Given the description of an element on the screen output the (x, y) to click on. 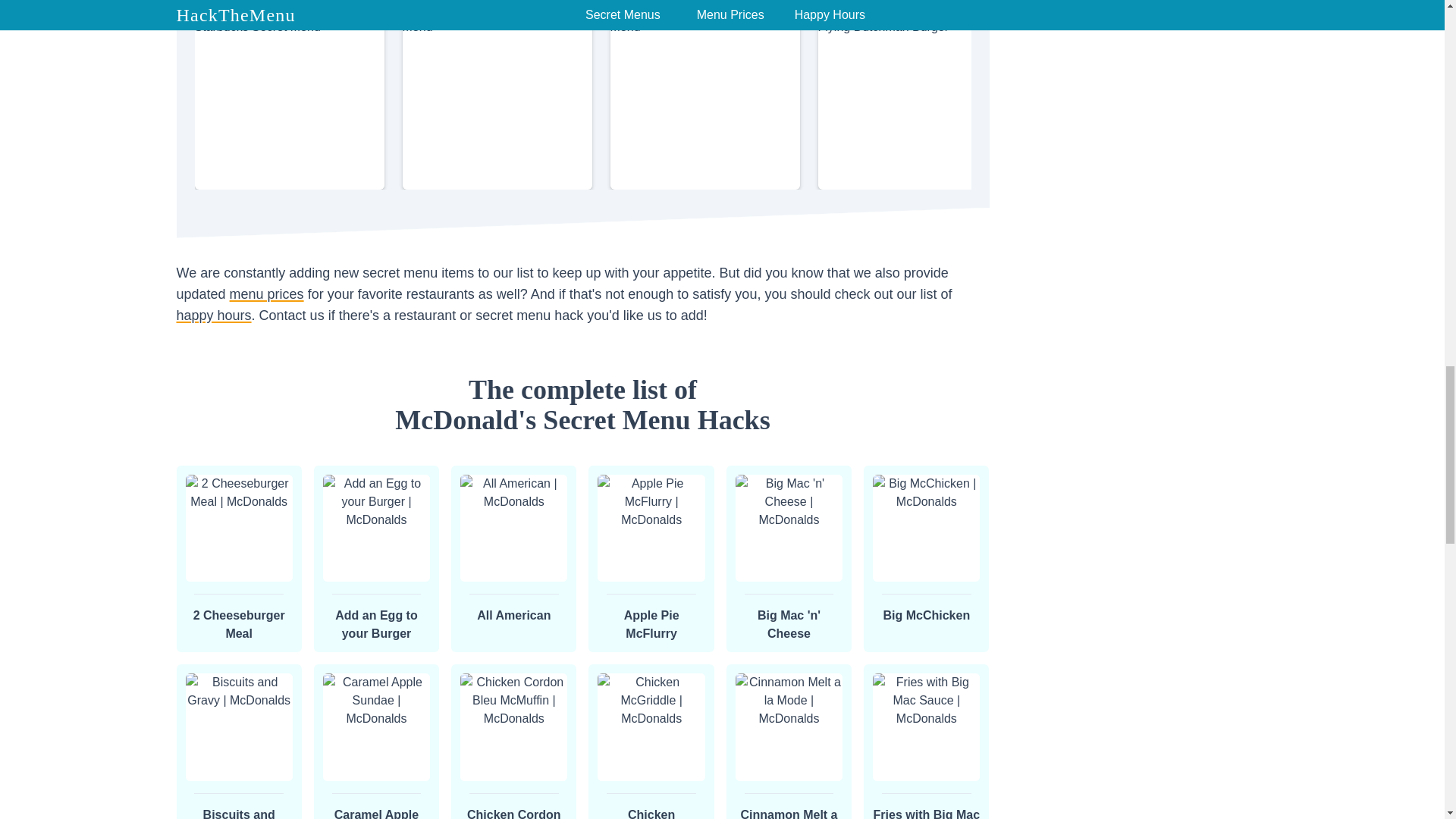
happy hours (582, 404)
menu prices (213, 314)
